Given the description of an element on the screen output the (x, y) to click on. 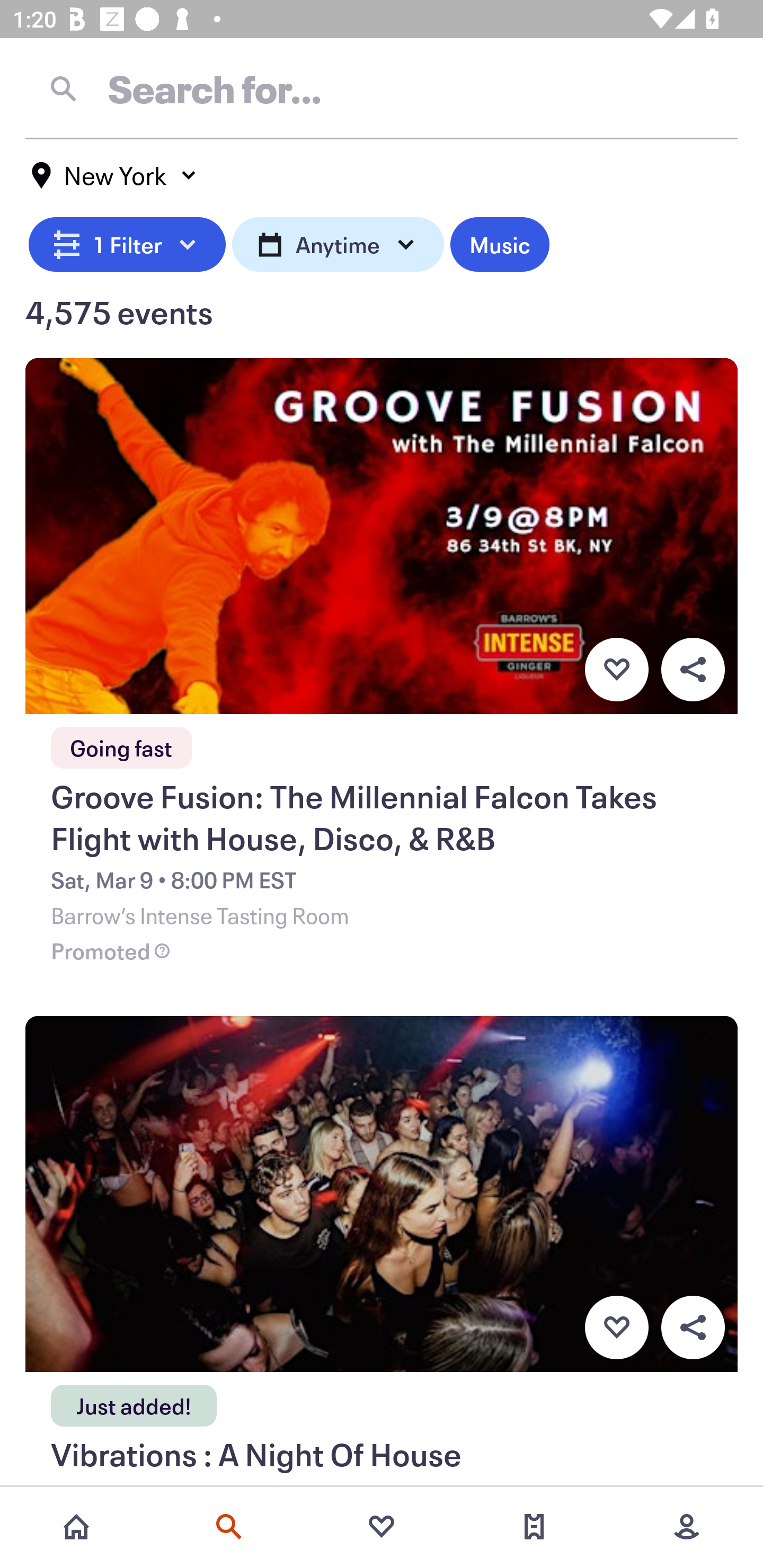
Search for… (381, 88)
New York (114, 175)
1 Filter (126, 241)
Anytime (337, 241)
Music (499, 241)
Favorite button (616, 669)
Overflow menu button (692, 669)
Favorite button (616, 1326)
Overflow menu button (692, 1326)
Just added! (133, 1400)
Home (76, 1526)
Search events (228, 1526)
Favorites (381, 1526)
Tickets (533, 1526)
More (686, 1526)
